Given the description of an element on the screen output the (x, y) to click on. 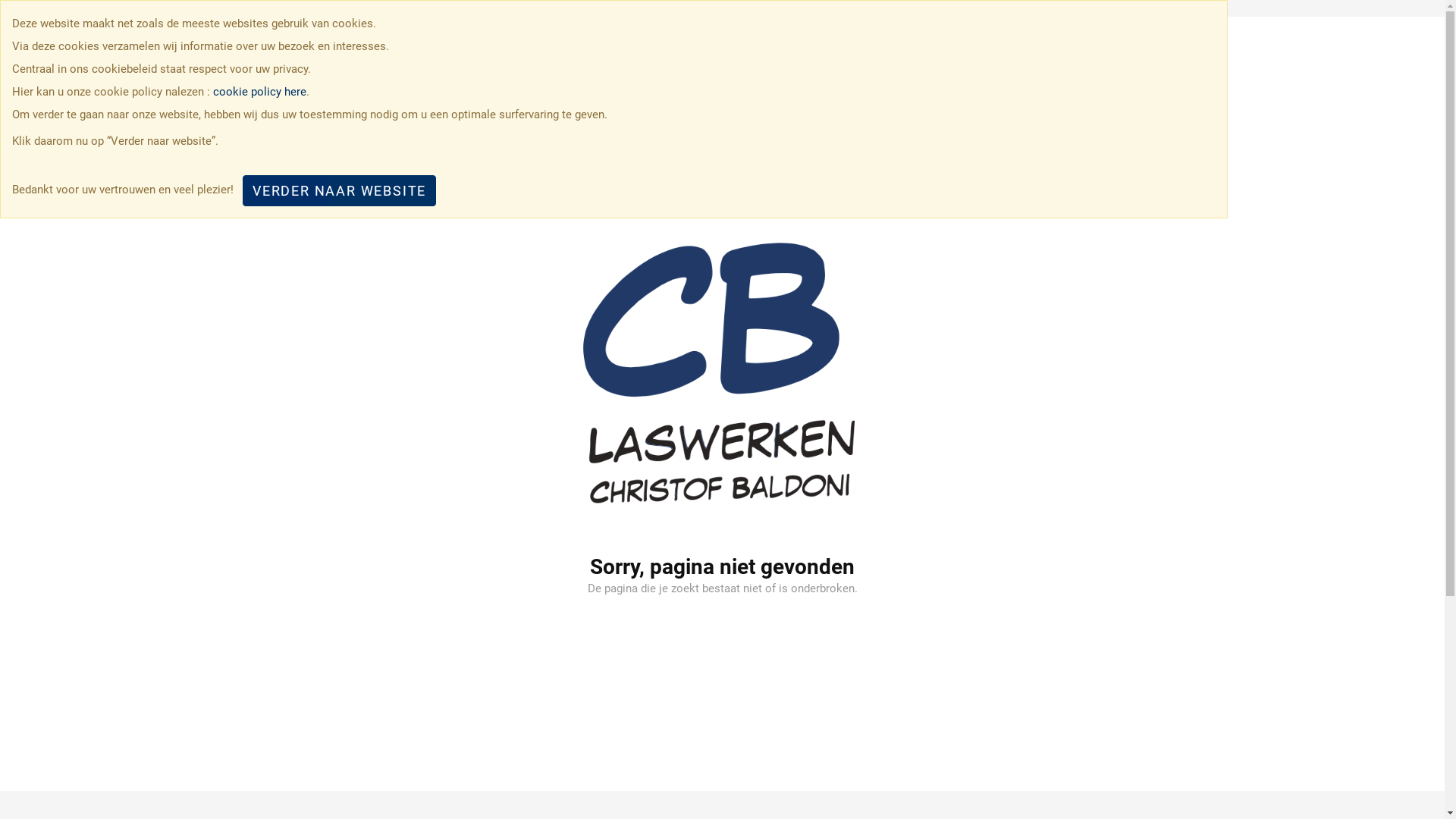
CONTACT Element type: text (1115, 61)
VERDER NAAR WEBSITE Element type: text (339, 190)
REALISATIES Element type: text (1027, 61)
OVER ONS Element type: text (937, 61)
HOME Element type: text (866, 61)
cookie policy here Element type: text (259, 91)
